Given the description of an element on the screen output the (x, y) to click on. 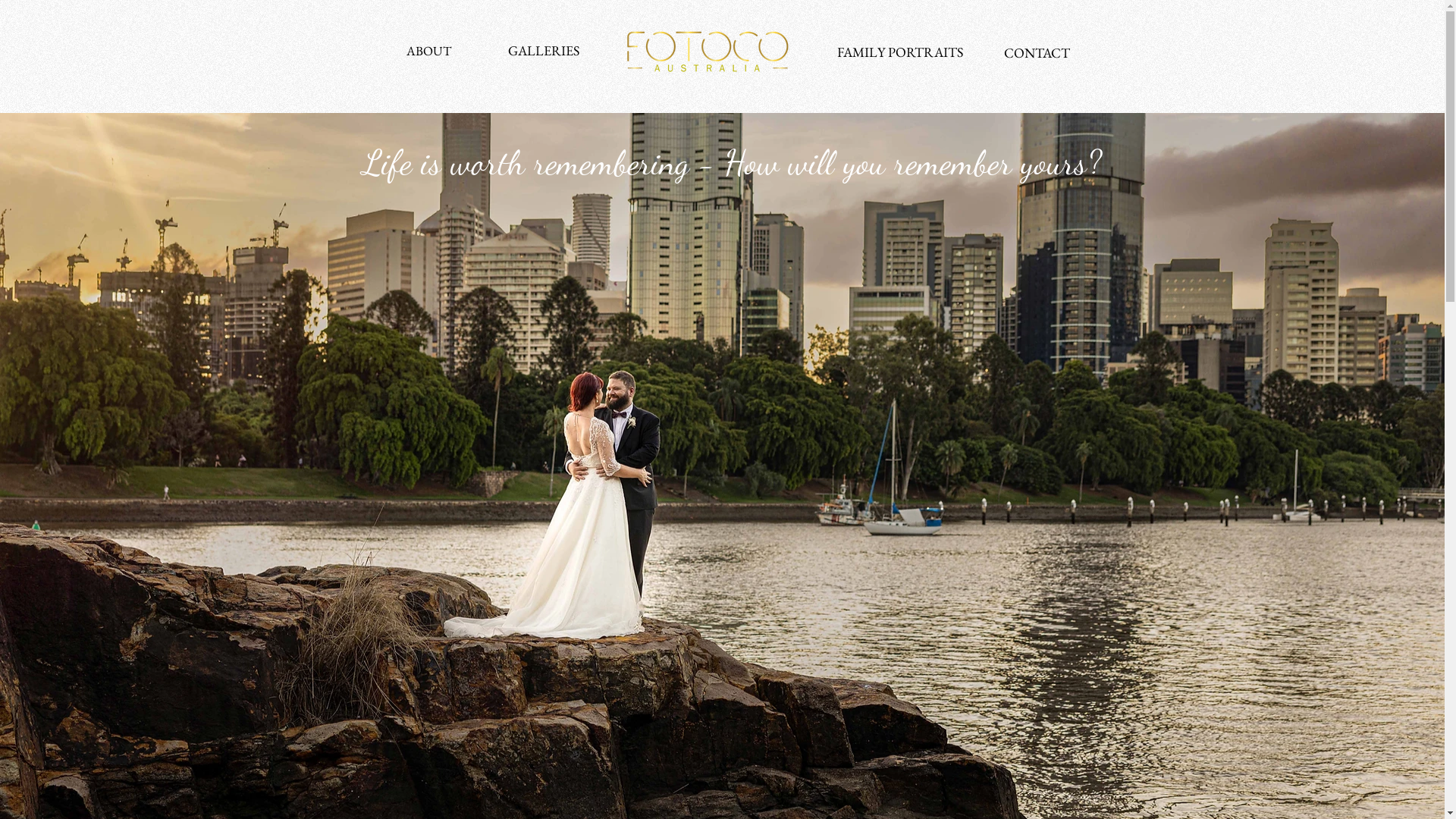
ABOUT Element type: text (428, 50)
CONTACT Element type: text (1037, 52)
GALLERIES Element type: text (543, 50)
FAMILY PORTRAITS Element type: text (900, 51)
